Given the description of an element on the screen output the (x, y) to click on. 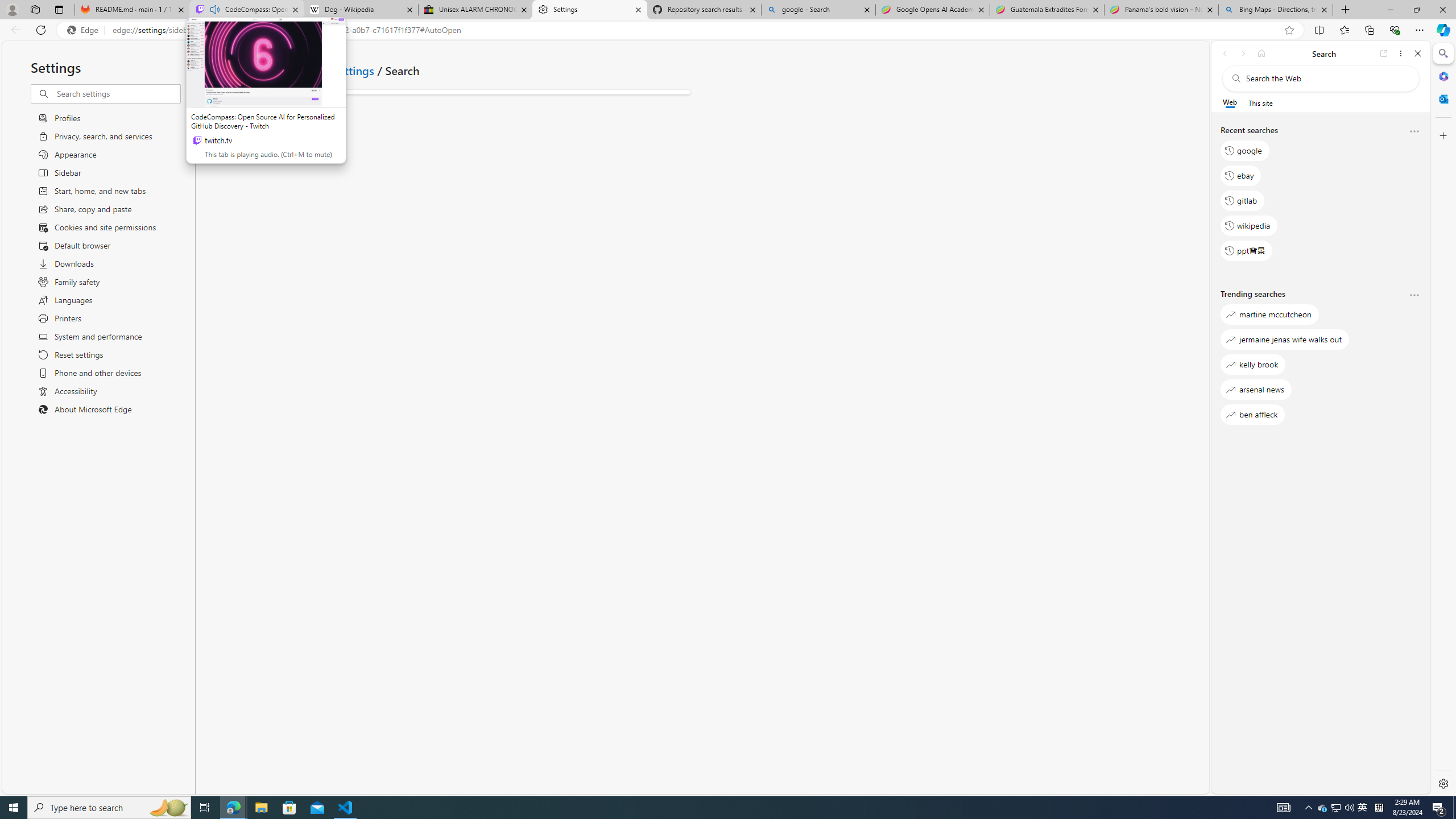
Dog - Wikipedia (360, 9)
Go back to App and notification settings page. (210, 70)
ben affleck (1252, 414)
google - Search (818, 9)
Edge (84, 29)
Search settings (117, 93)
ebay (1240, 175)
kelly brook (1252, 364)
